Given the description of an element on the screen output the (x, y) to click on. 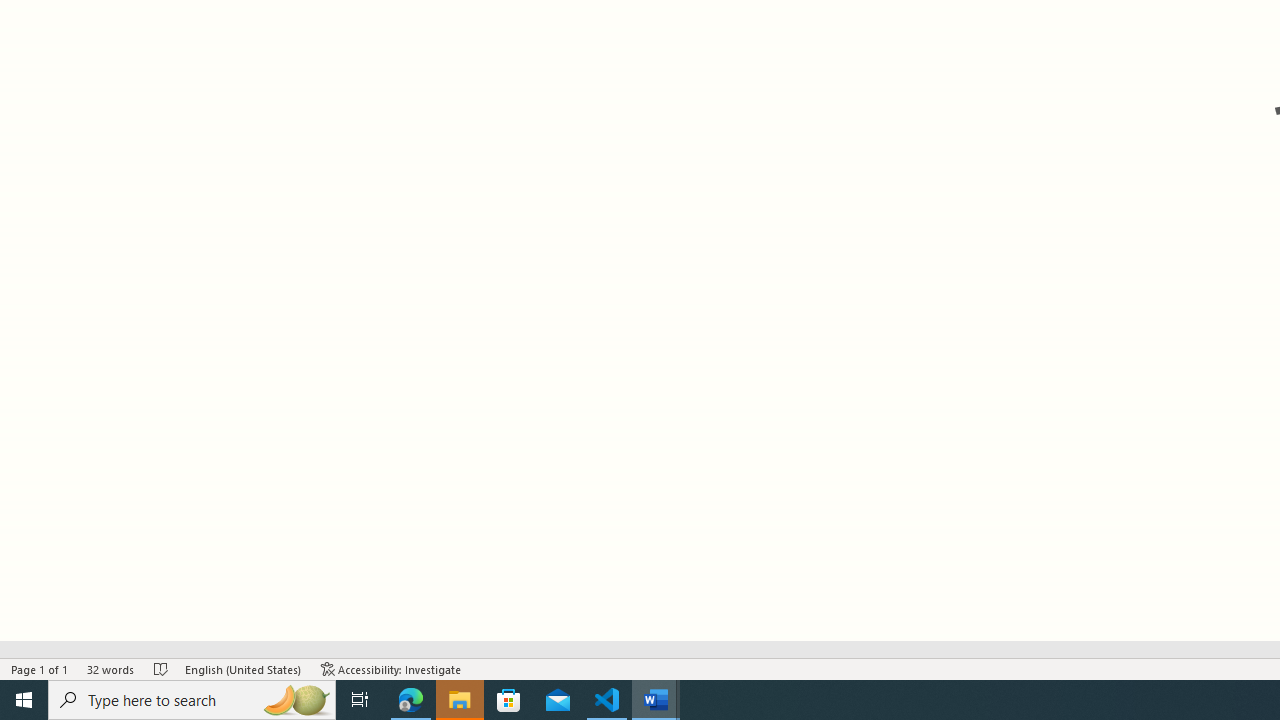
Page Number Page 1 of 1 (39, 668)
Spelling and Grammar Check No Errors (161, 668)
Word Count 32 words (111, 668)
